Given the description of an element on the screen output the (x, y) to click on. 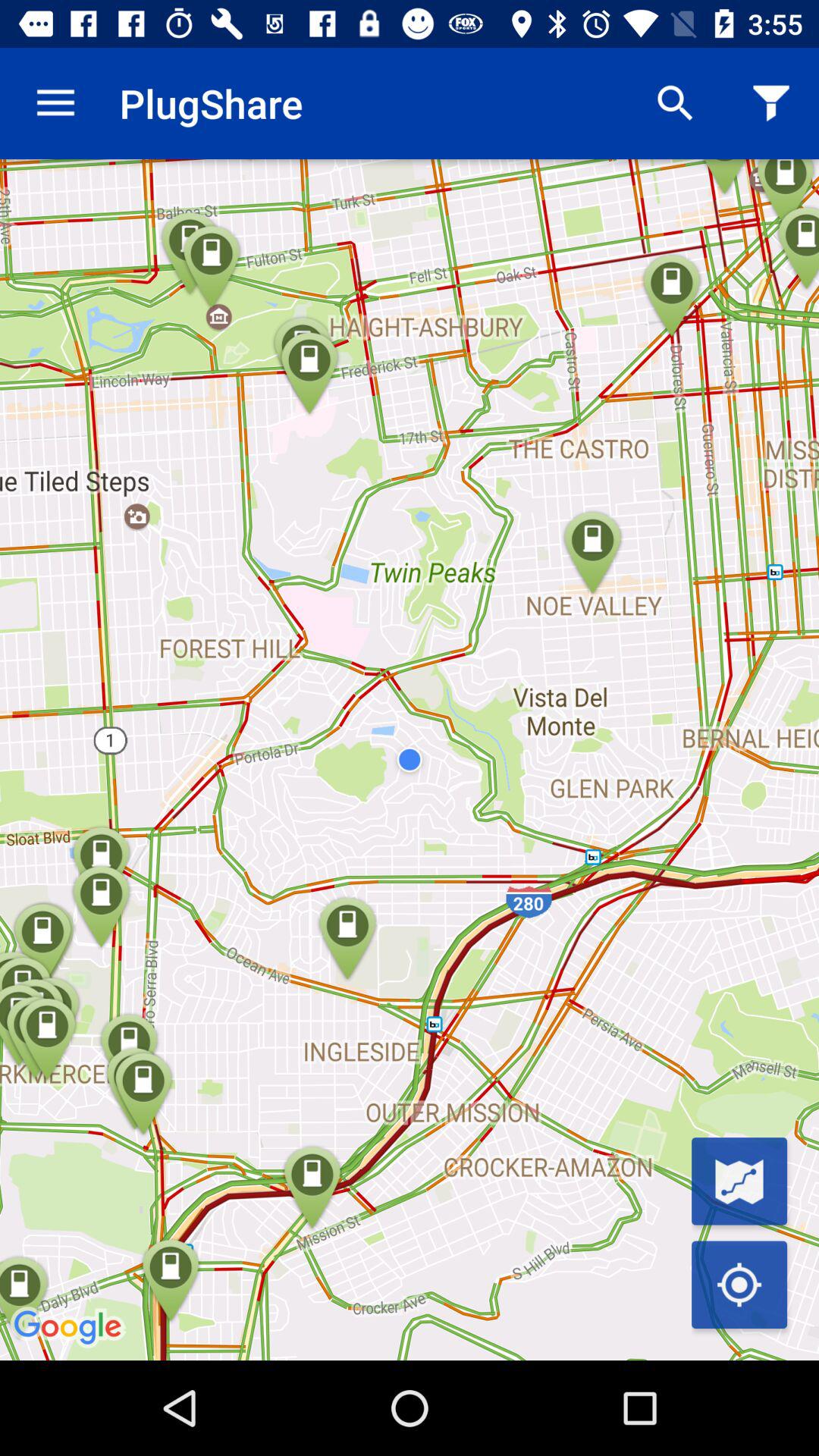
open the app to the left of the plugshare item (55, 103)
